Given the description of an element on the screen output the (x, y) to click on. 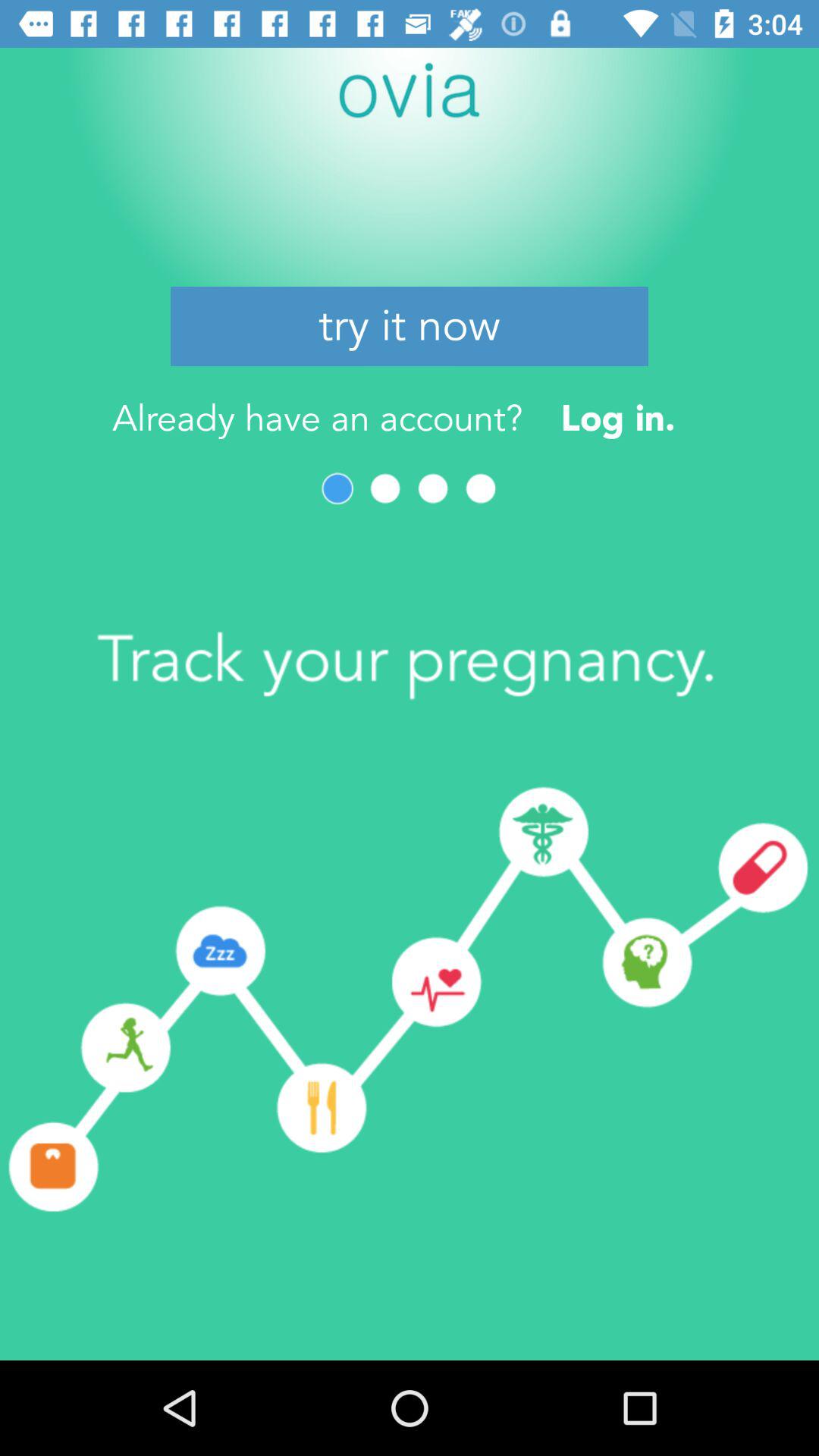
turn off the item below the already have an item (433, 488)
